Given the description of an element on the screen output the (x, y) to click on. 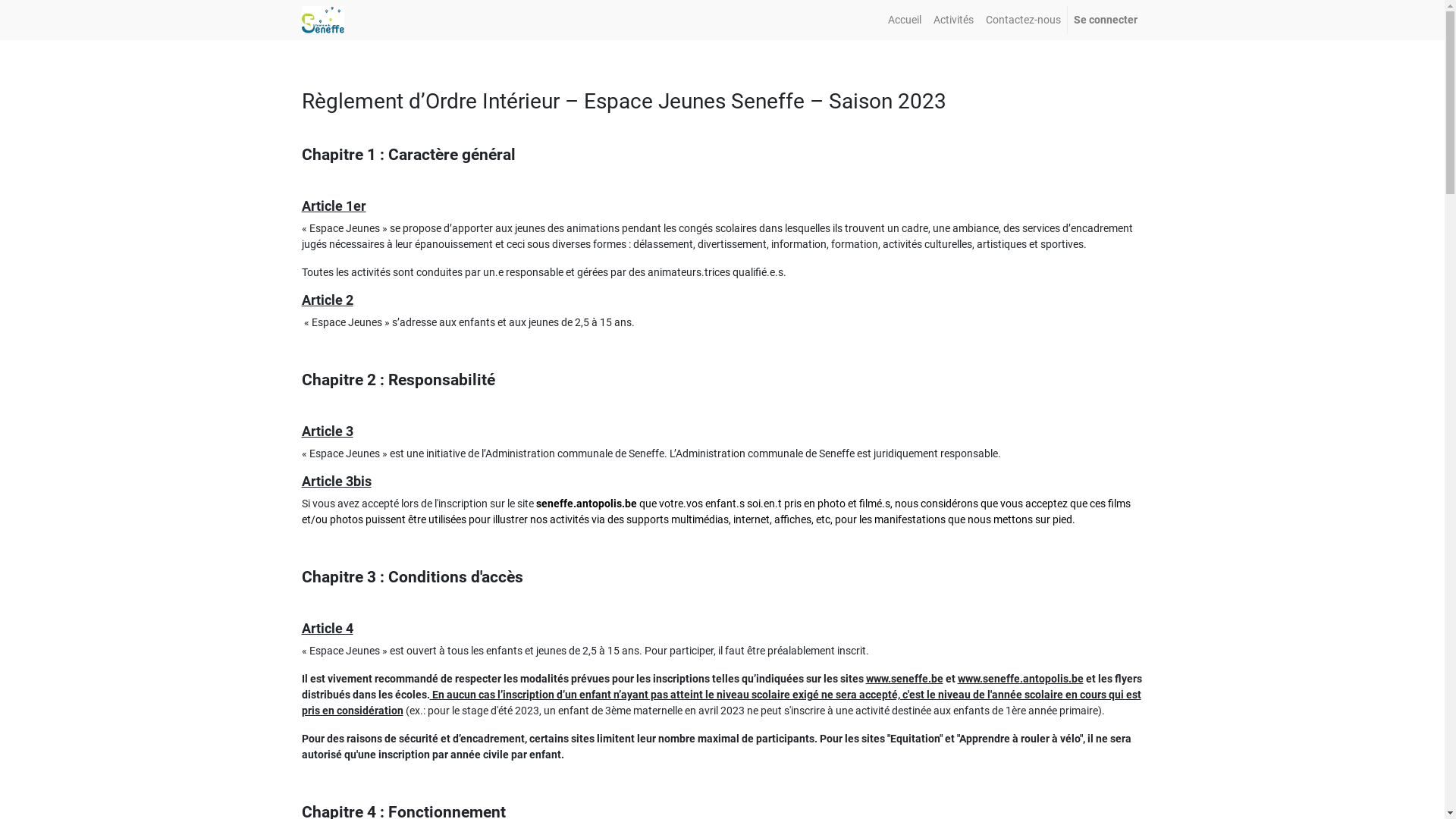
Contactez-nous Element type: text (1022, 20)
Accueil Element type: text (903, 20)
Se connecter Element type: text (1105, 20)
Seneffe Service Jeunesse Element type: hover (322, 20)
